Given the description of an element on the screen output the (x, y) to click on. 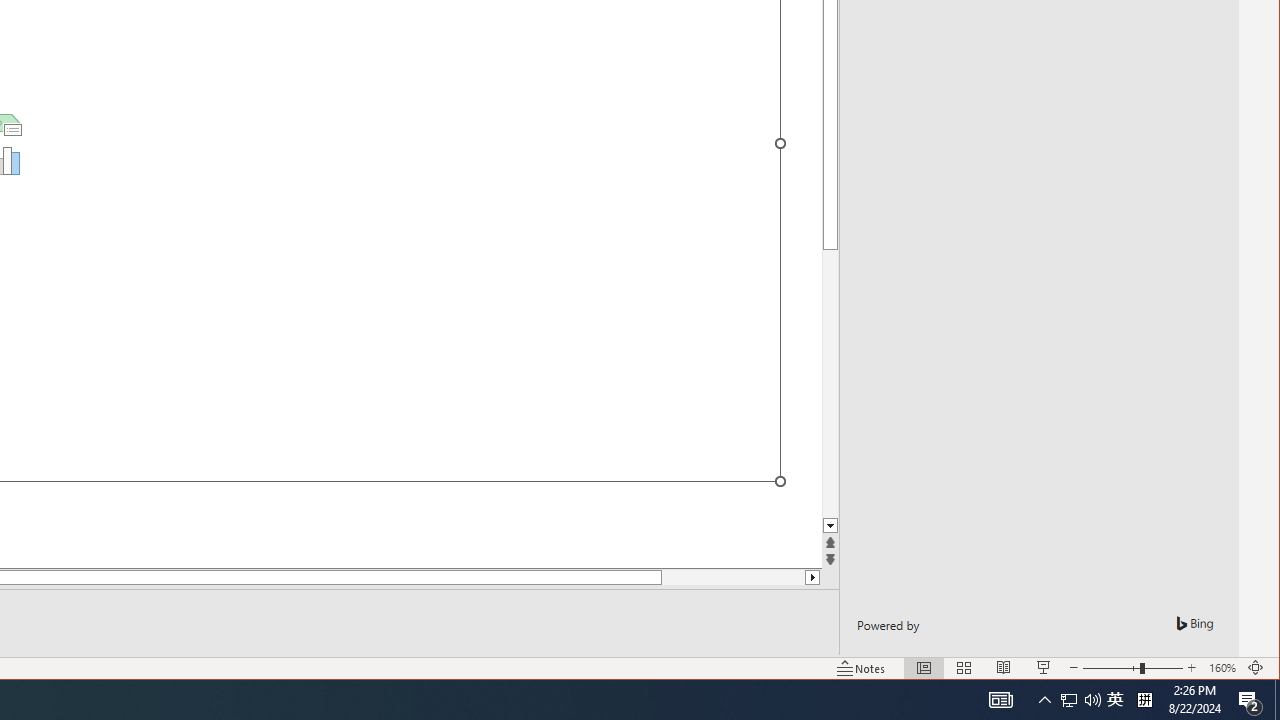
Zoom 160% (1222, 668)
